Given the description of an element on the screen output the (x, y) to click on. 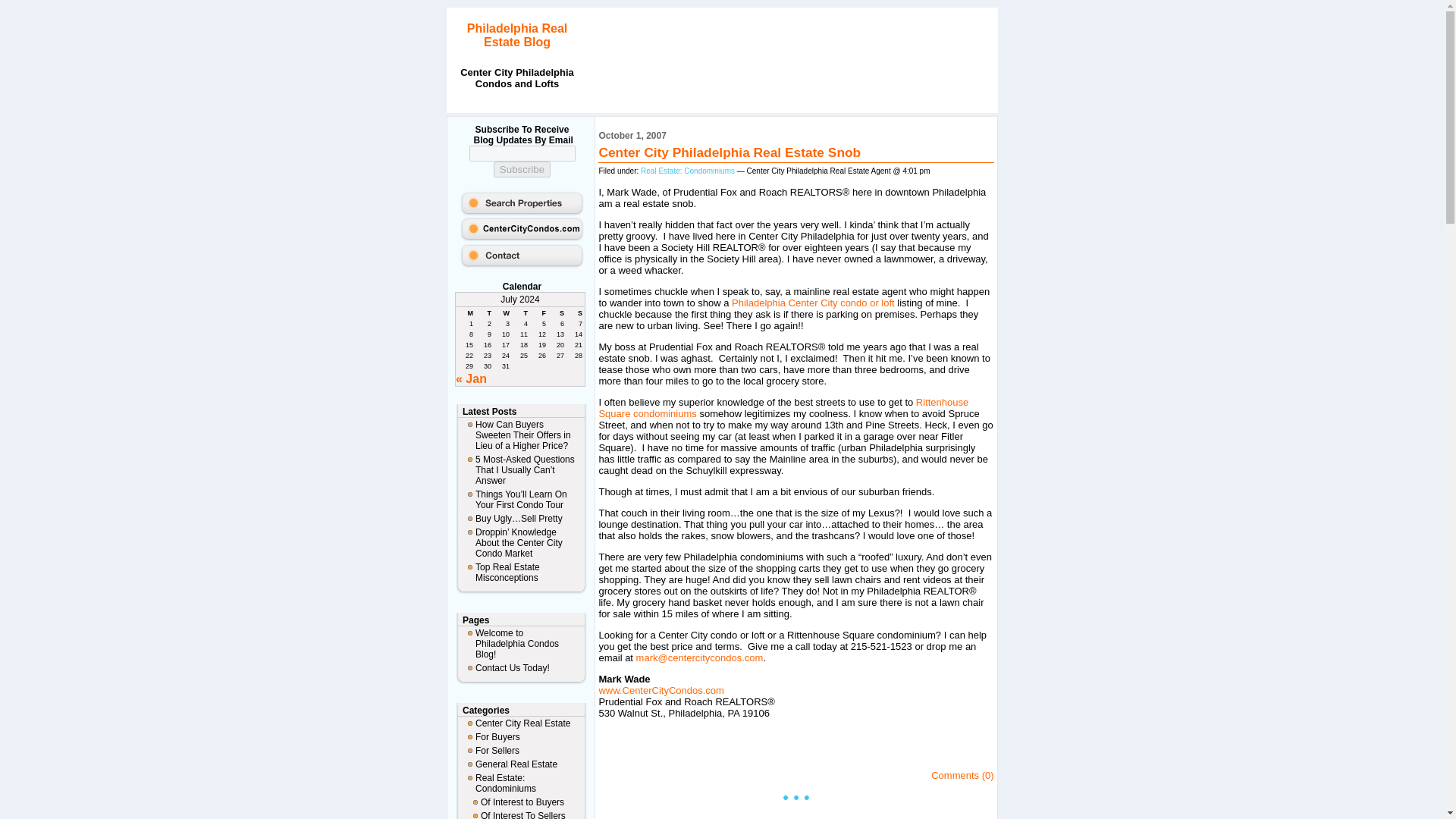
Of Interest To Sellers (521, 814)
Top Real Estate Misconceptions (521, 572)
Subscribe (521, 169)
Real Estate: Condominiums (521, 783)
Of Interest to Buyers (521, 802)
Contact Us Today! (521, 667)
Welcome to Philadelphia Condos Blog! (521, 643)
General Real Estate (521, 764)
For Buyers (521, 736)
Subscribe (521, 169)
Center City Real Estate (521, 723)
Philadelphia Real Estate Blog (517, 35)
For Sellers (521, 750)
